Given the description of an element on the screen output the (x, y) to click on. 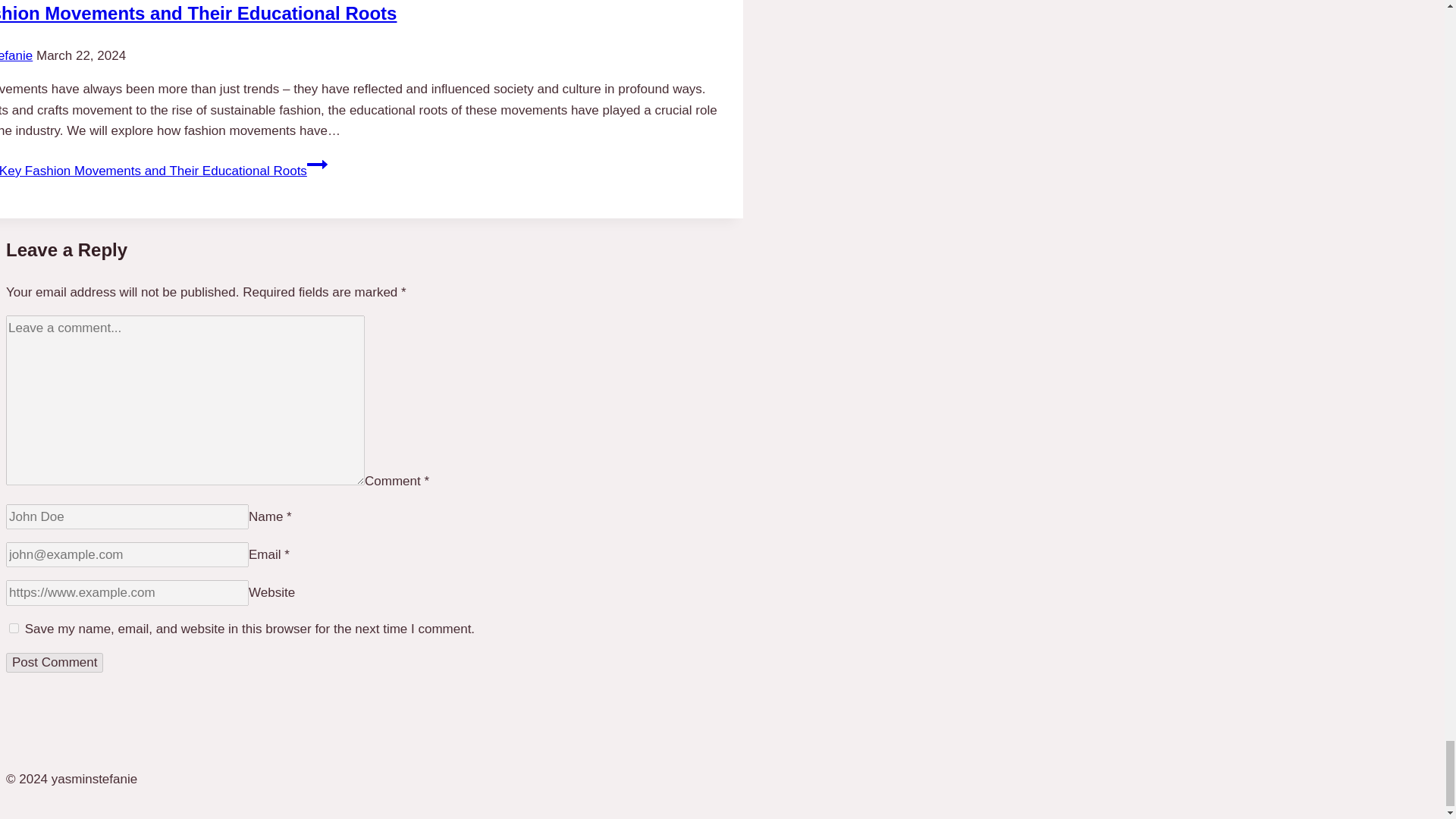
Key Fashion Movements and Their Educational Roots (198, 13)
Continue (317, 164)
yasminstefanie (16, 55)
yes (13, 628)
Post Comment (54, 662)
